Given the description of an element on the screen output the (x, y) to click on. 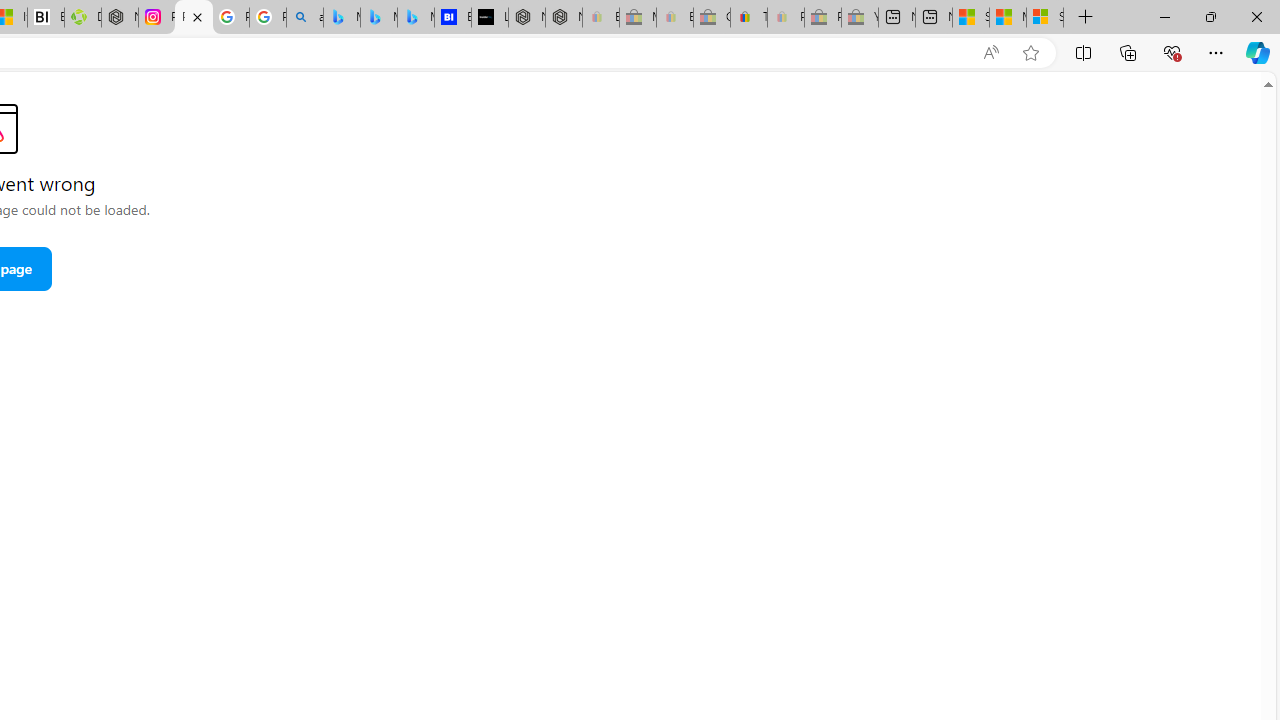
Microsoft Bing Travel - Flights from Hong Kong to Bangkok (341, 17)
Nordace - Nordace Edin Collection (120, 17)
alabama high school quarterback dies - Search (304, 17)
Payments Terms of Use | eBay.com - Sleeping (785, 17)
Shanghai, China hourly forecast | Microsoft Weather (971, 17)
